Given the description of an element on the screen output the (x, y) to click on. 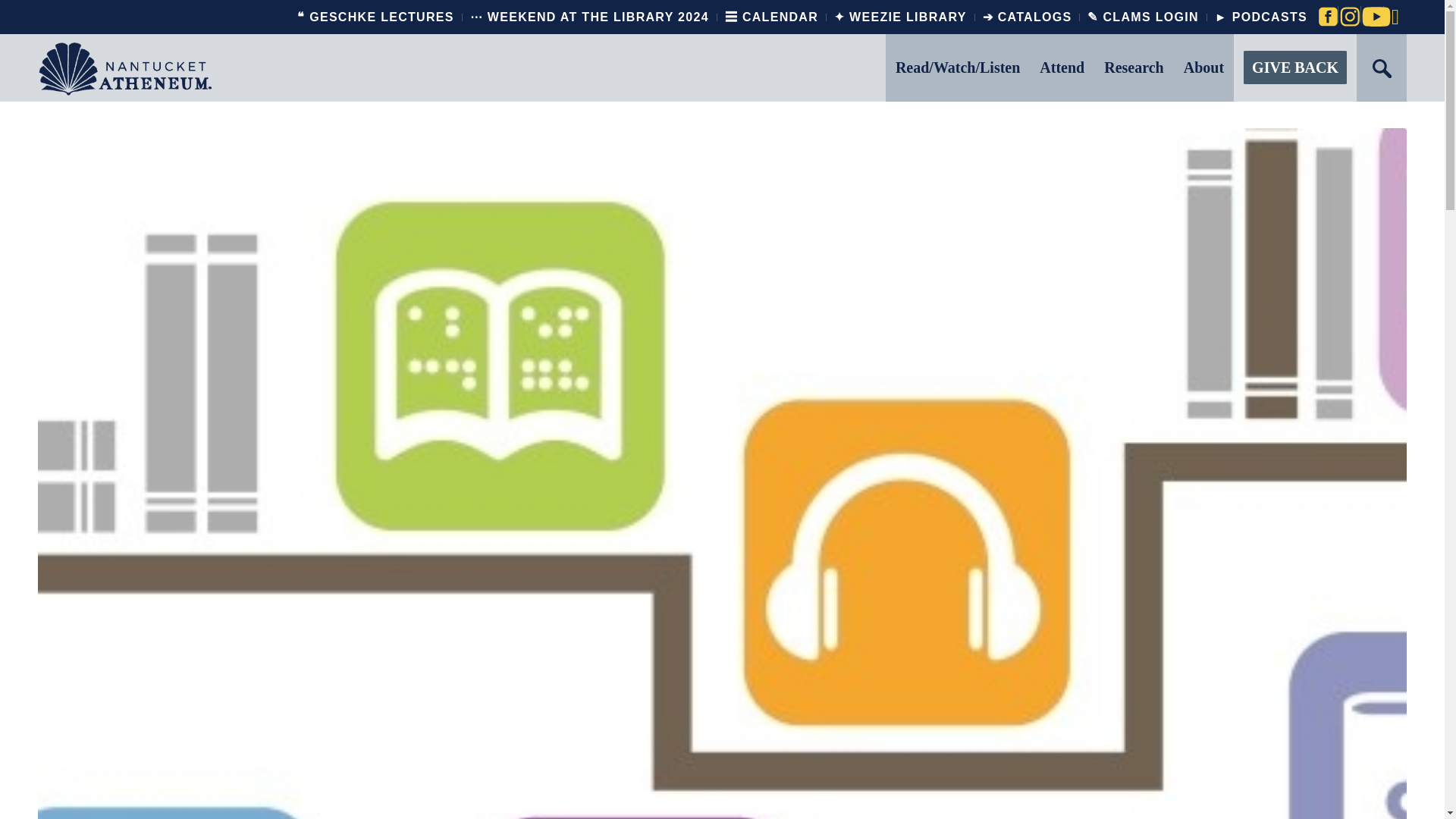
Facebook (1327, 16)
LOGO final (124, 67)
Attend (1061, 67)
Instagram (1348, 16)
Youtube (1372, 16)
GIVE BACK (1294, 67)
Research (1133, 67)
LinkedIn (1395, 16)
